Given the description of an element on the screen output the (x, y) to click on. 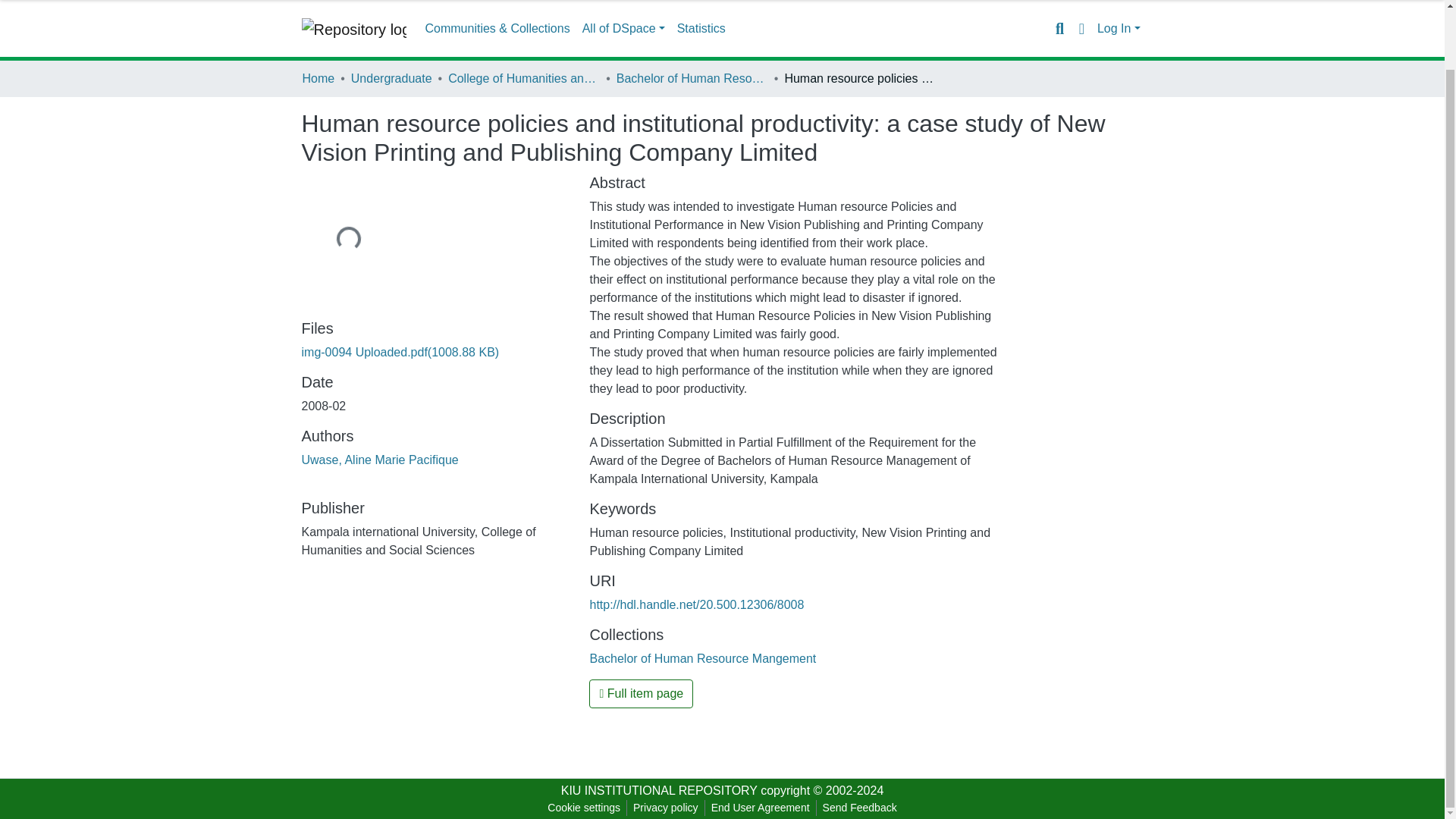
Home (317, 78)
College of Humanities and Social Sciences (523, 78)
Cookie settings (583, 807)
Uwase, Aline Marie Pacifique (379, 459)
Bachelor of Human Resource Mangement (702, 658)
Statistics (701, 28)
Search (1058, 28)
All of DSpace (623, 28)
End User Agreement (759, 807)
Undergraduate (391, 78)
